Given the description of an element on the screen output the (x, y) to click on. 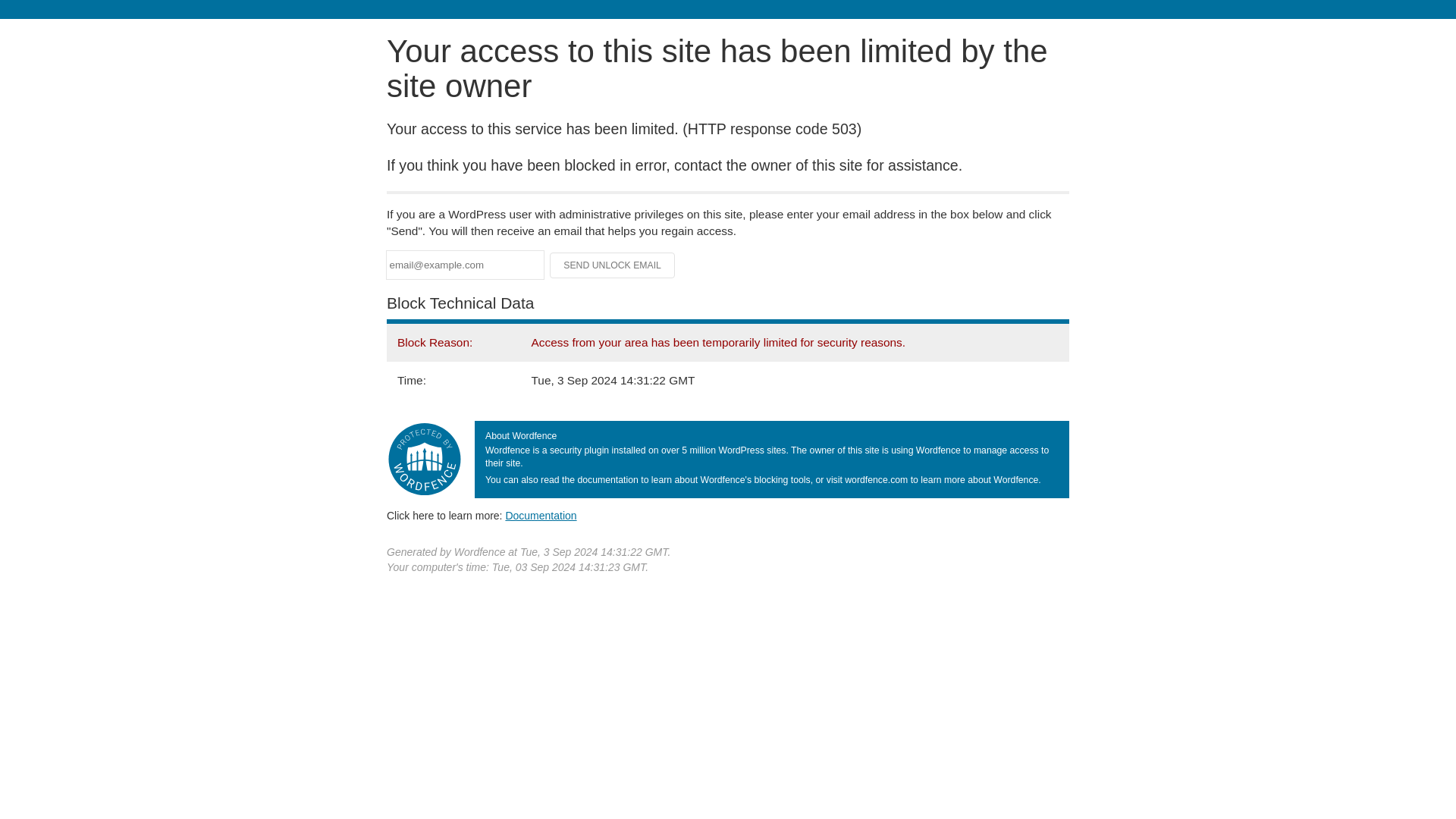
Send Unlock Email (612, 265)
Documentation (540, 515)
Send Unlock Email (612, 265)
